Given the description of an element on the screen output the (x, y) to click on. 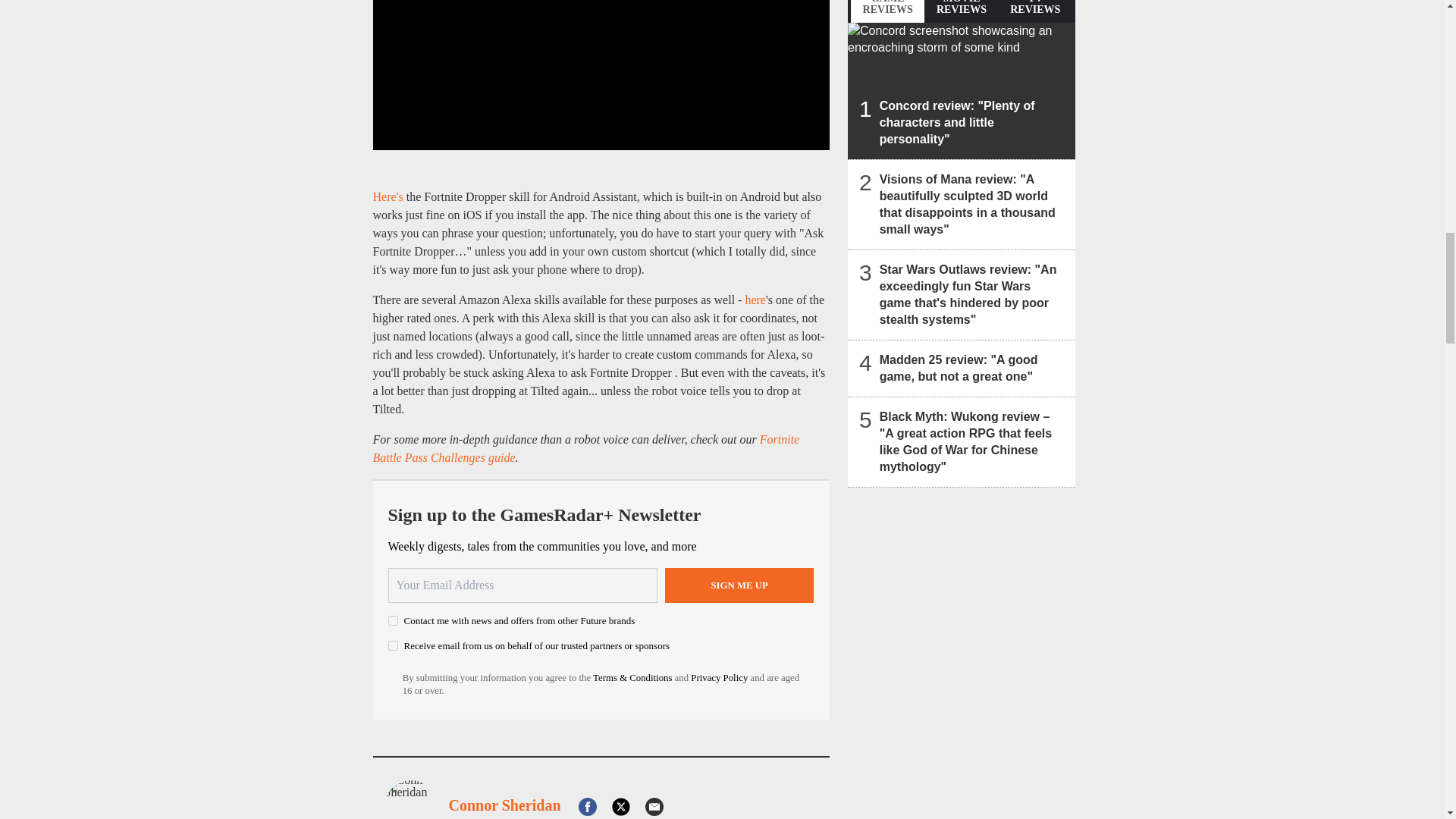
on (392, 645)
Sign me up (739, 585)
on (392, 620)
